Given the description of an element on the screen output the (x, y) to click on. 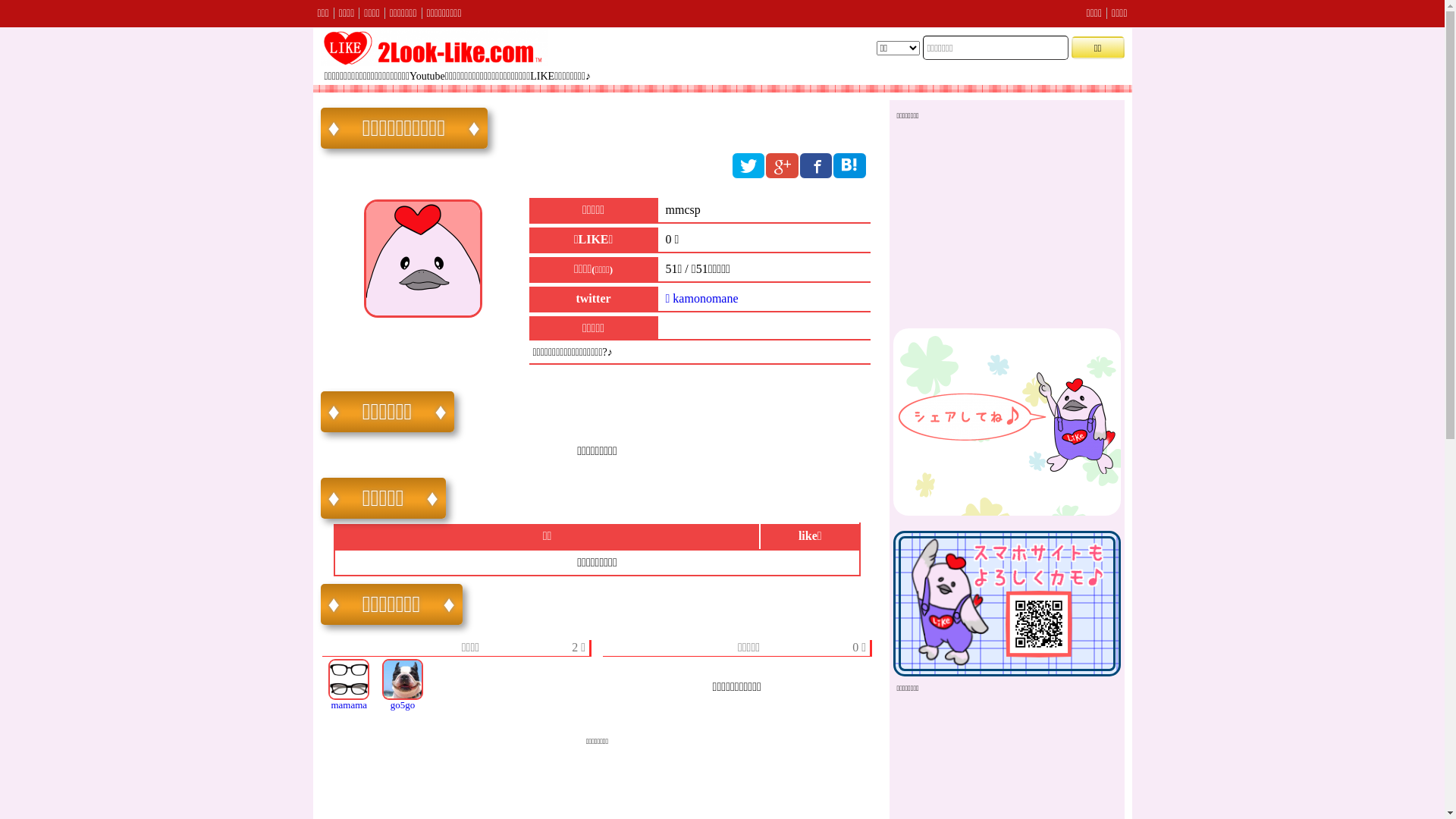
hatebu Element type: text (849, 165)
mamama Element type: text (349, 685)
twitter Element type: text (748, 165)
Tweet Element type: text (922, 351)
facebook Element type: text (815, 165)
gplus Element type: text (781, 165)
go5go Element type: text (402, 685)
